Given the description of an element on the screen output the (x, y) to click on. 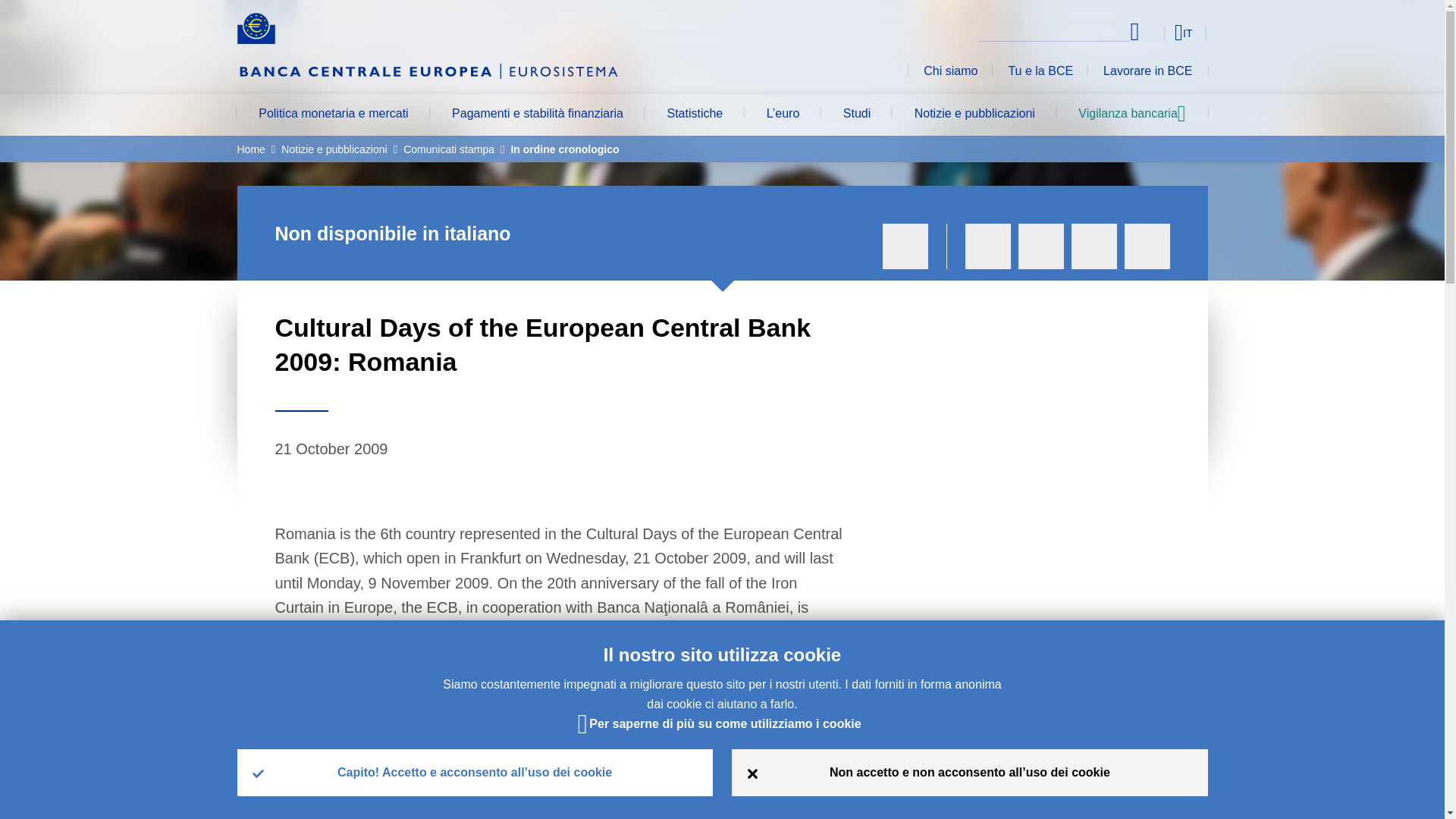
Politica monetaria e mercati (332, 114)
Select language (1153, 32)
